Given the description of an element on the screen output the (x, y) to click on. 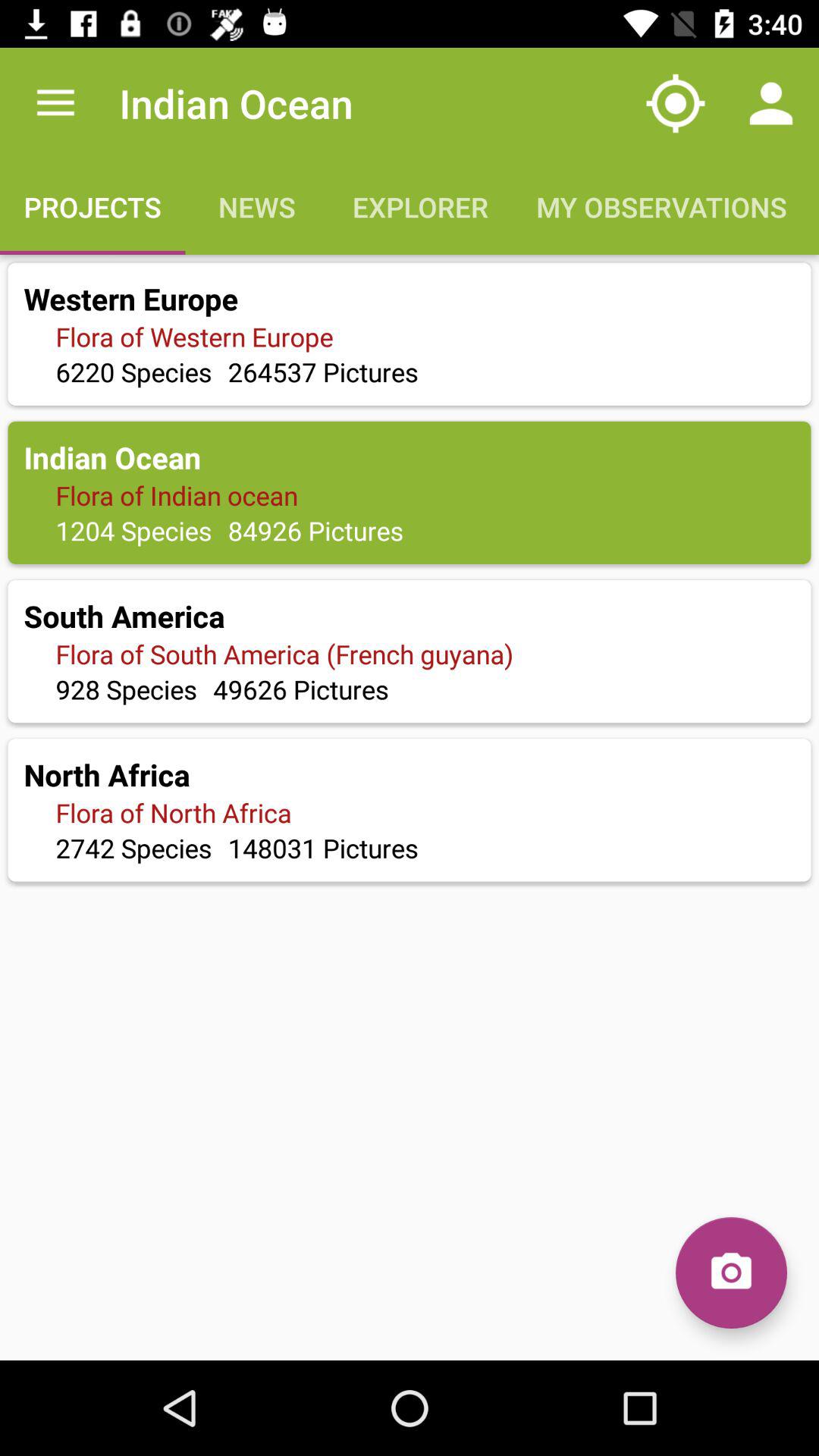
turn on the app next to the indian ocean item (55, 103)
